Given the description of an element on the screen output the (x, y) to click on. 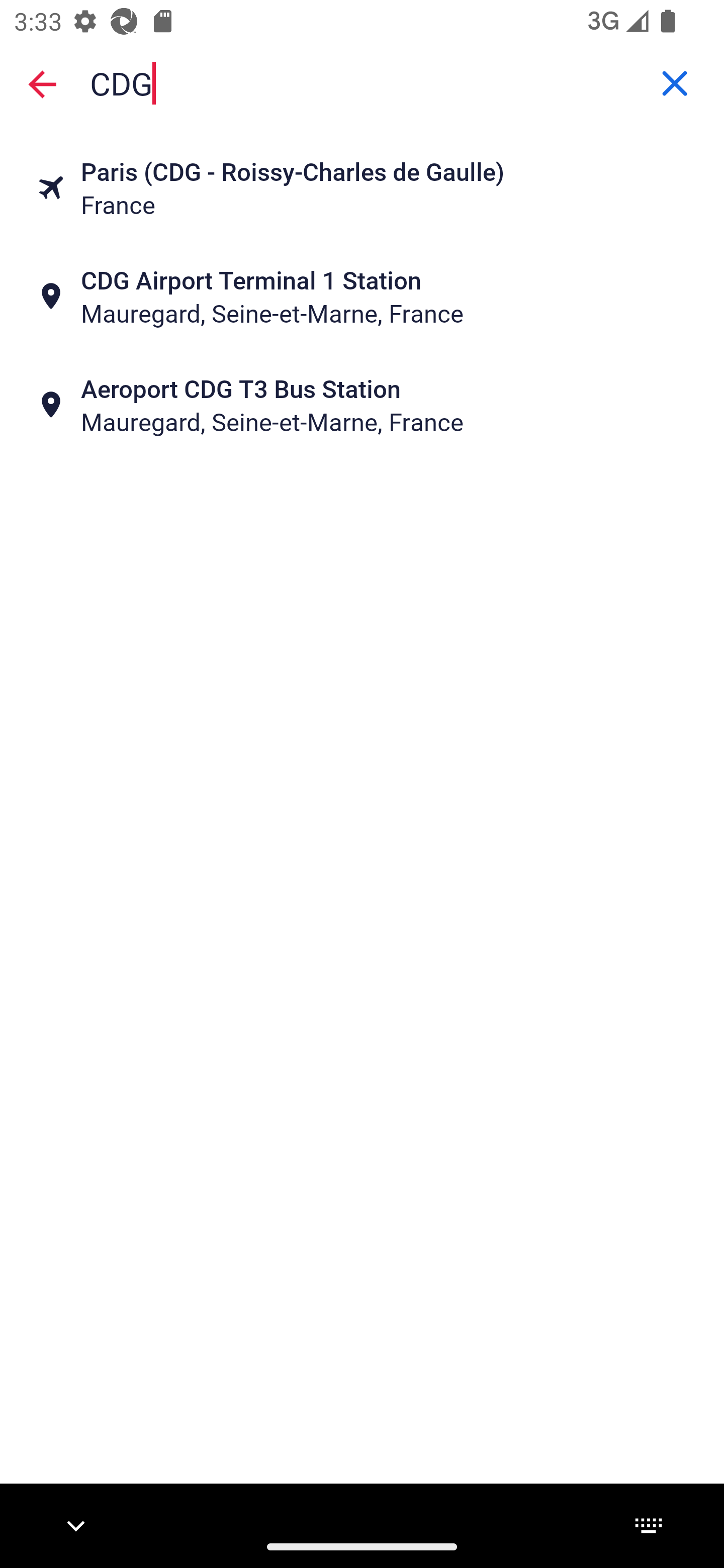
Clear Pick-up (674, 82)
Pick-up, CDG (361, 82)
Close search screen (41, 83)
